Given the description of an element on the screen output the (x, y) to click on. 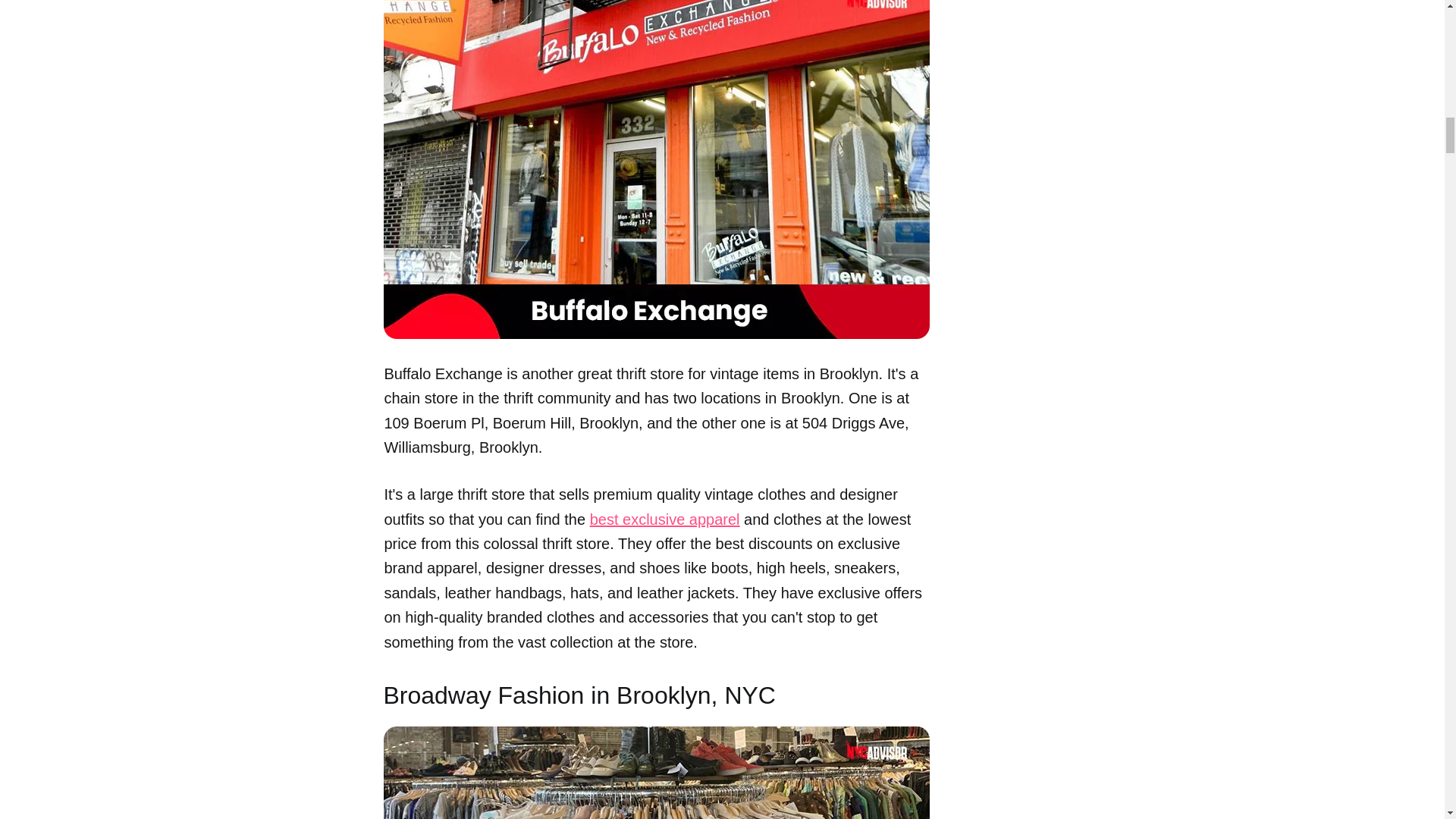
best exclusive apparel (664, 518)
